Given the description of an element on the screen output the (x, y) to click on. 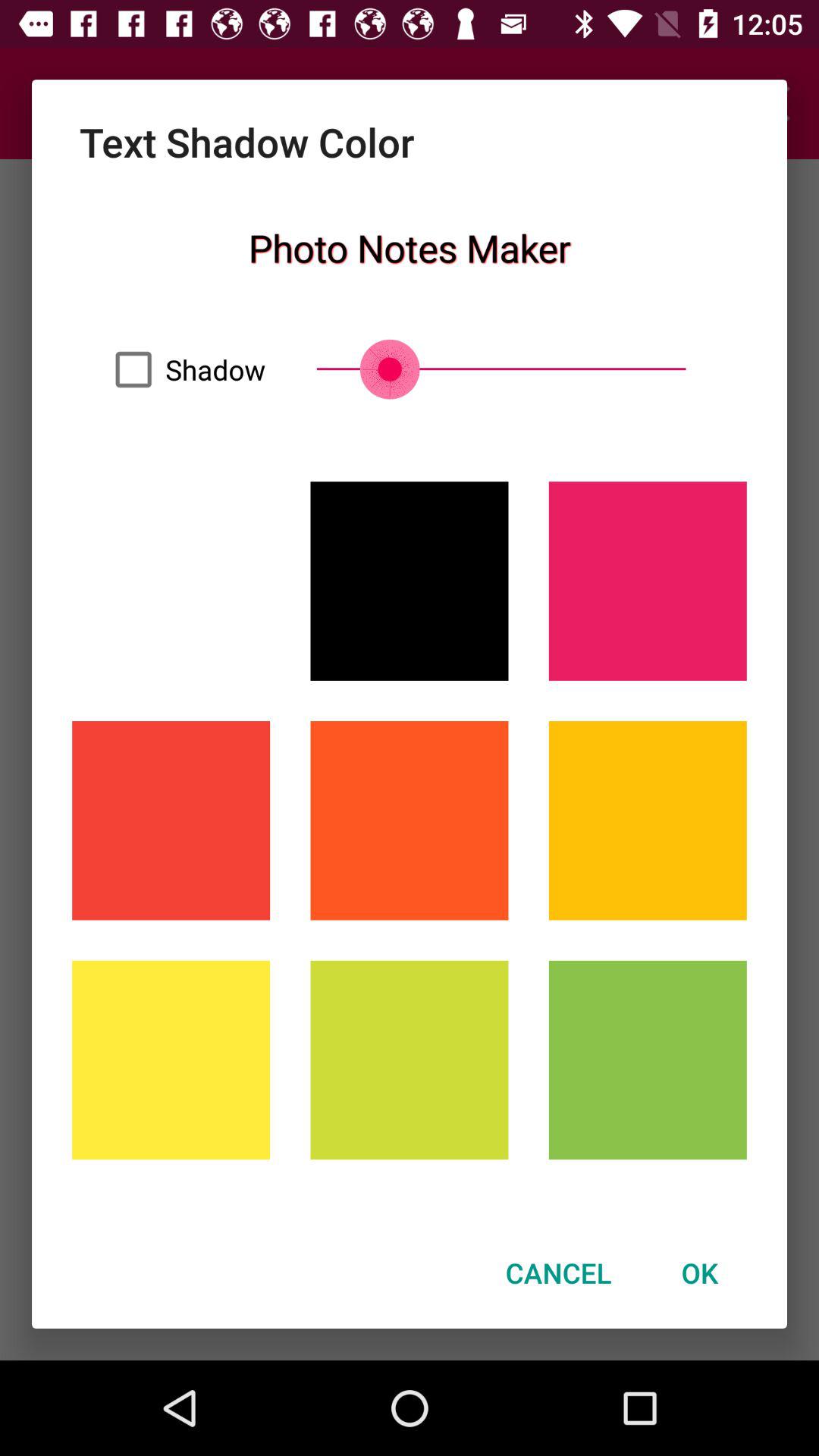
turn off the icon to the left of the ok (558, 1272)
